Given the description of an element on the screen output the (x, y) to click on. 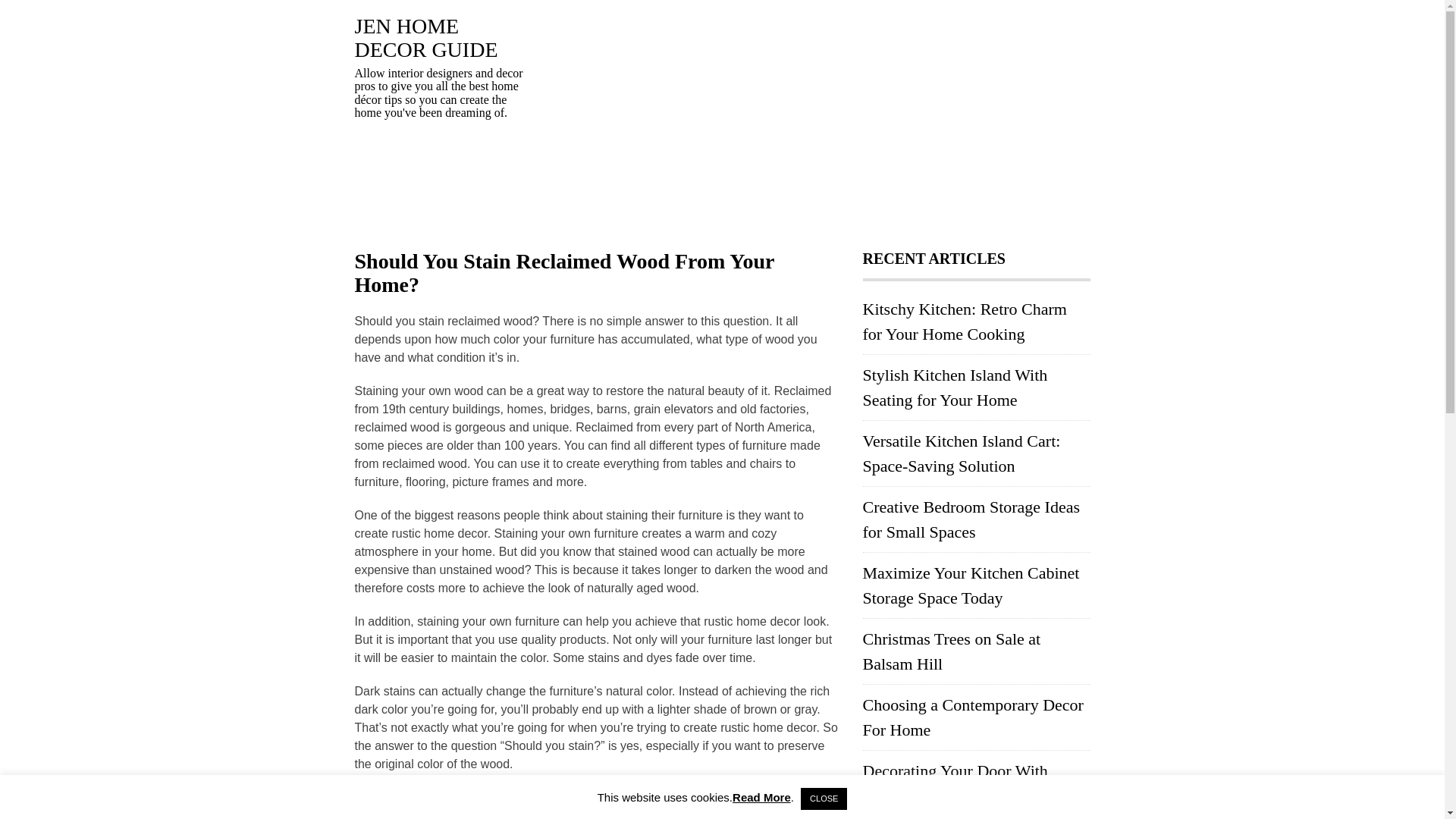
Choosing a Contemporary Decor For Home (973, 717)
Maximize Your Kitchen Cabinet Storage Space Today (971, 585)
JEN HOME DECOR GUIDE (426, 37)
Christmas Trees on Sale at Balsam Hill (952, 651)
Read More (761, 797)
Creative Bedroom Storage Ideas for Small Spaces (971, 519)
Kitschy Kitchen: Retro Charm for Your Home Cooking (965, 321)
Stylish Kitchen Island With Seating for Your Home (955, 387)
Versatile Kitchen Island Cart: Space-Saving Solution (962, 453)
Advertisement (809, 121)
CLOSE (823, 798)
Decorating Your Door With Beautiful Christmas Wreaths (959, 783)
